Given the description of an element on the screen output the (x, y) to click on. 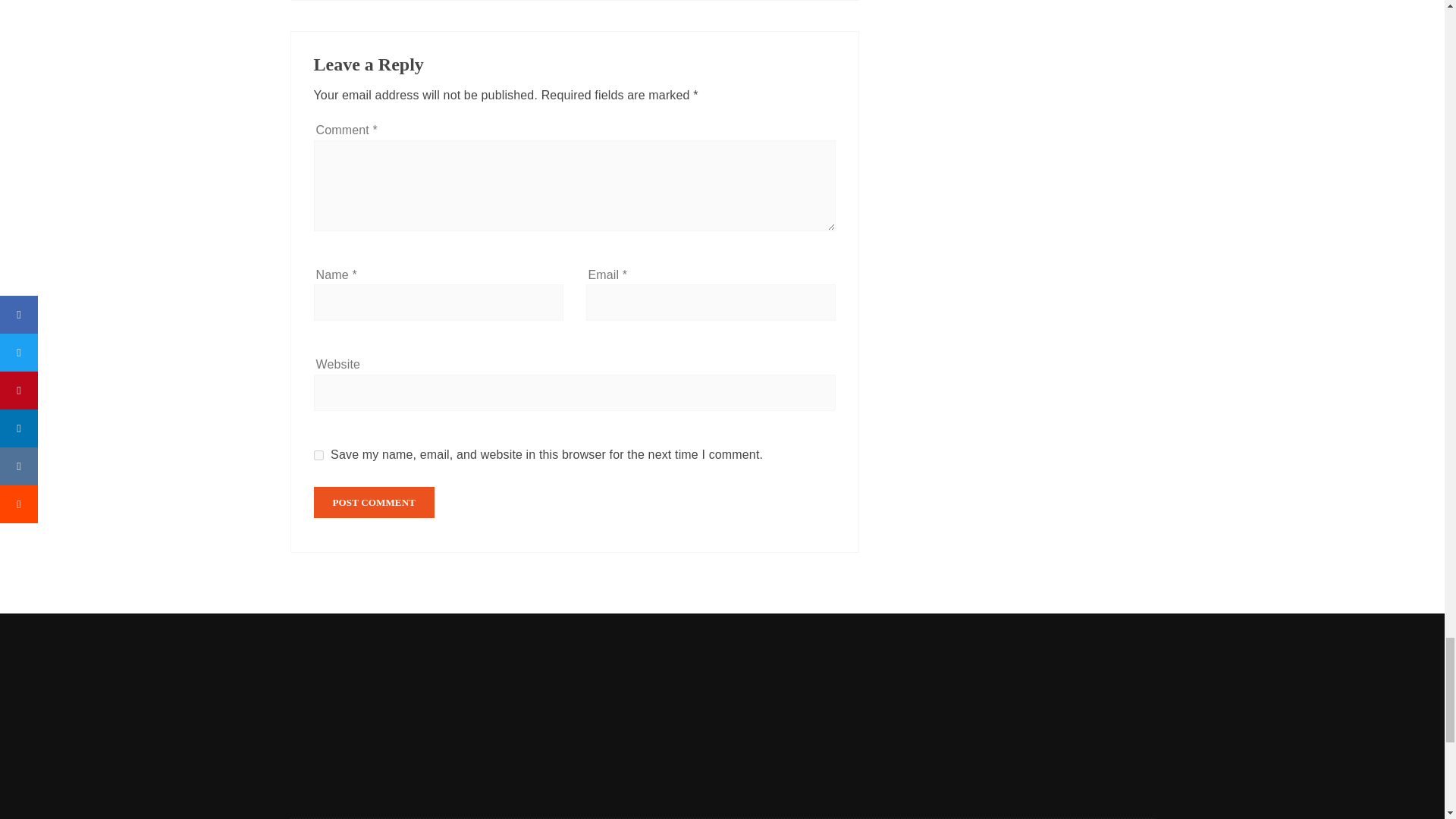
Post Comment (374, 501)
yes (318, 455)
